Given the description of an element on the screen output the (x, y) to click on. 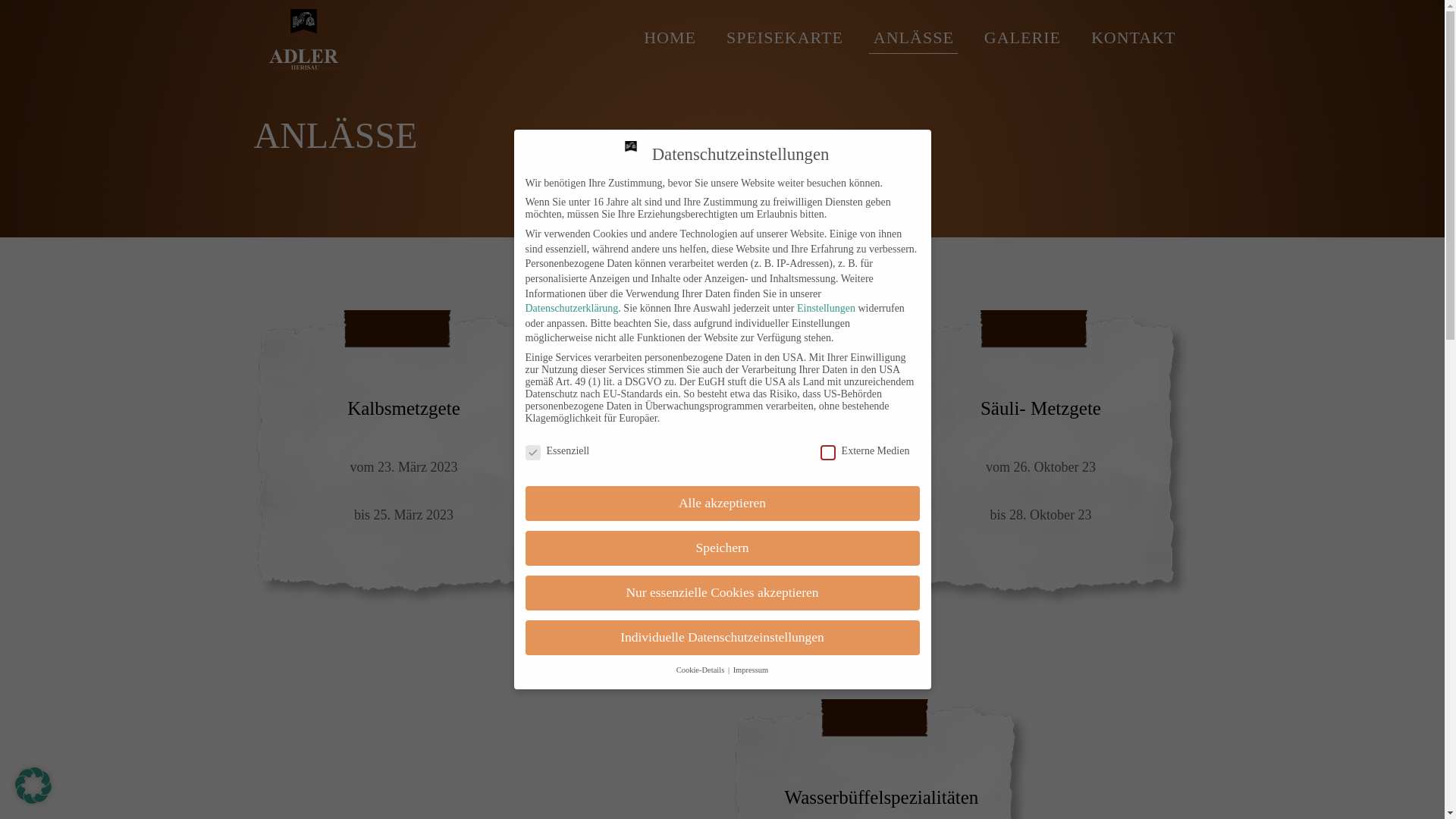
SPEISEKARTE Element type: text (784, 37)
Alle akzeptieren Element type: text (721, 503)
Impressum Element type: text (750, 669)
Adler Speise Restaurant Element type: hover (302, 37)
Individuelle Datenschutzeinstellungen Element type: text (721, 637)
HOME Element type: text (669, 37)
KONTAKT Element type: text (1133, 37)
Speichern Element type: text (721, 547)
Einstellungen Element type: text (826, 307)
GALERIE Element type: text (1022, 37)
Cookie-Details Element type: text (701, 669)
Nur essenzielle Cookies akzeptieren Element type: text (721, 592)
